Given the description of an element on the screen output the (x, y) to click on. 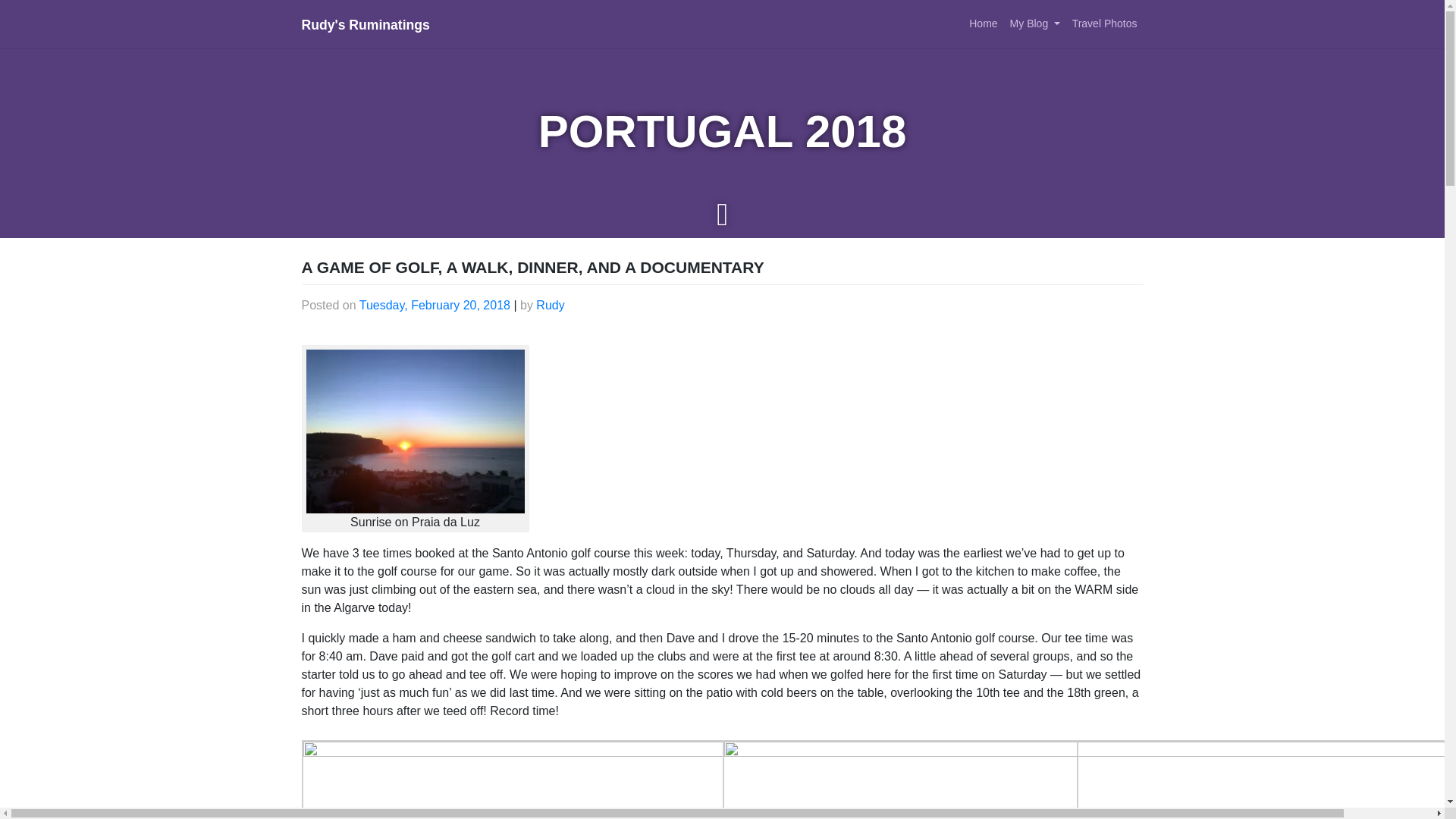
Rudy's Ruminatings (365, 24)
Home (982, 23)
My Blog (1034, 23)
Tuesday, February 20, 2018 (435, 305)
Rudy (549, 305)
Home (982, 23)
My Blog (1034, 23)
Travel Photos (1103, 23)
